Given the description of an element on the screen output the (x, y) to click on. 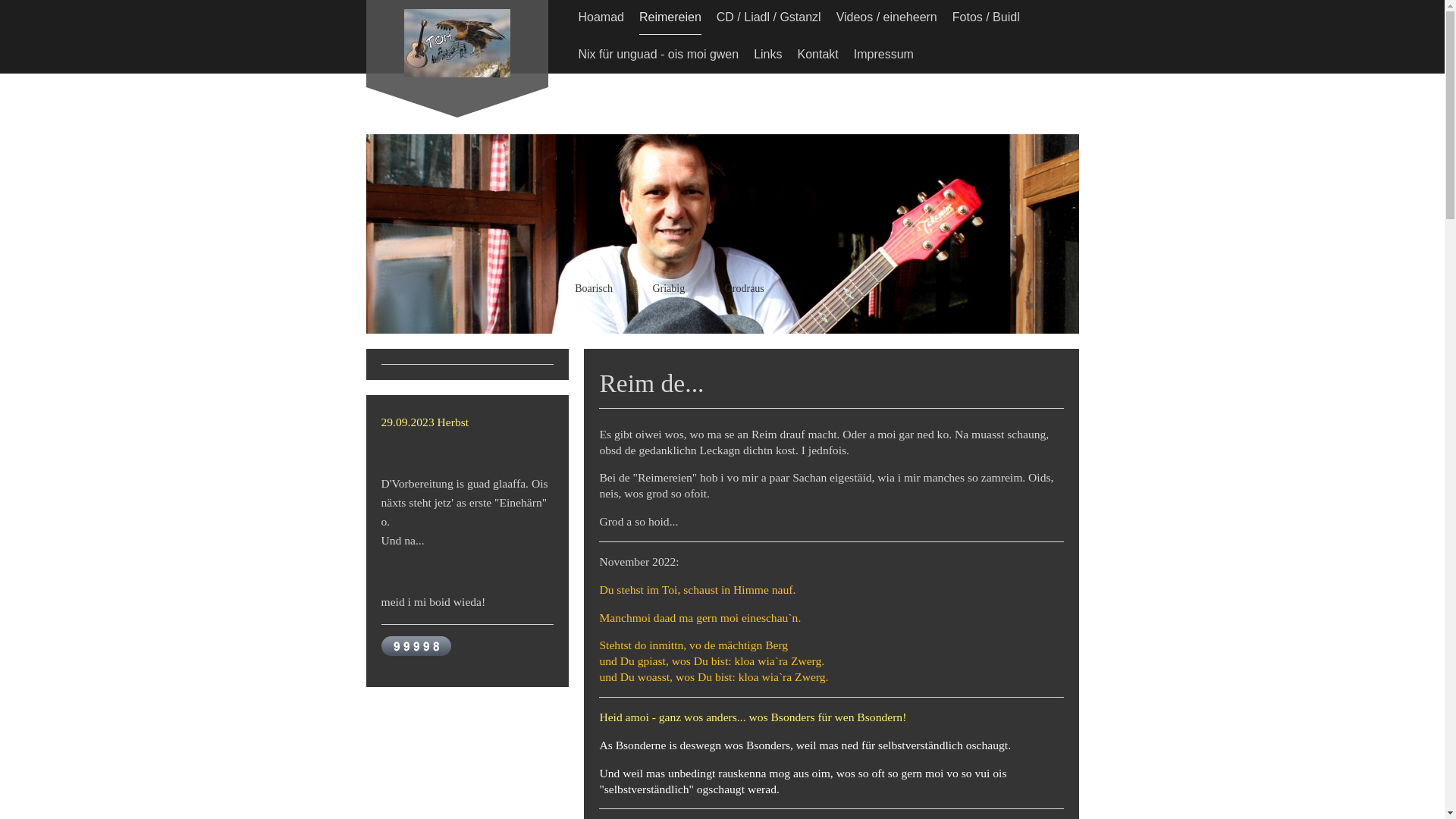
Videos / eineheern Element type: text (886, 17)
Hoamad Element type: text (600, 17)
Kontakt Element type: text (817, 54)
Impressum Element type: text (883, 54)
Reimereien Element type: text (670, 17)
CD / Liadl / Gstanzl Element type: text (768, 17)
Links Element type: text (767, 54)
Fotos / Buidl Element type: text (985, 17)
